Given the description of an element on the screen output the (x, y) to click on. 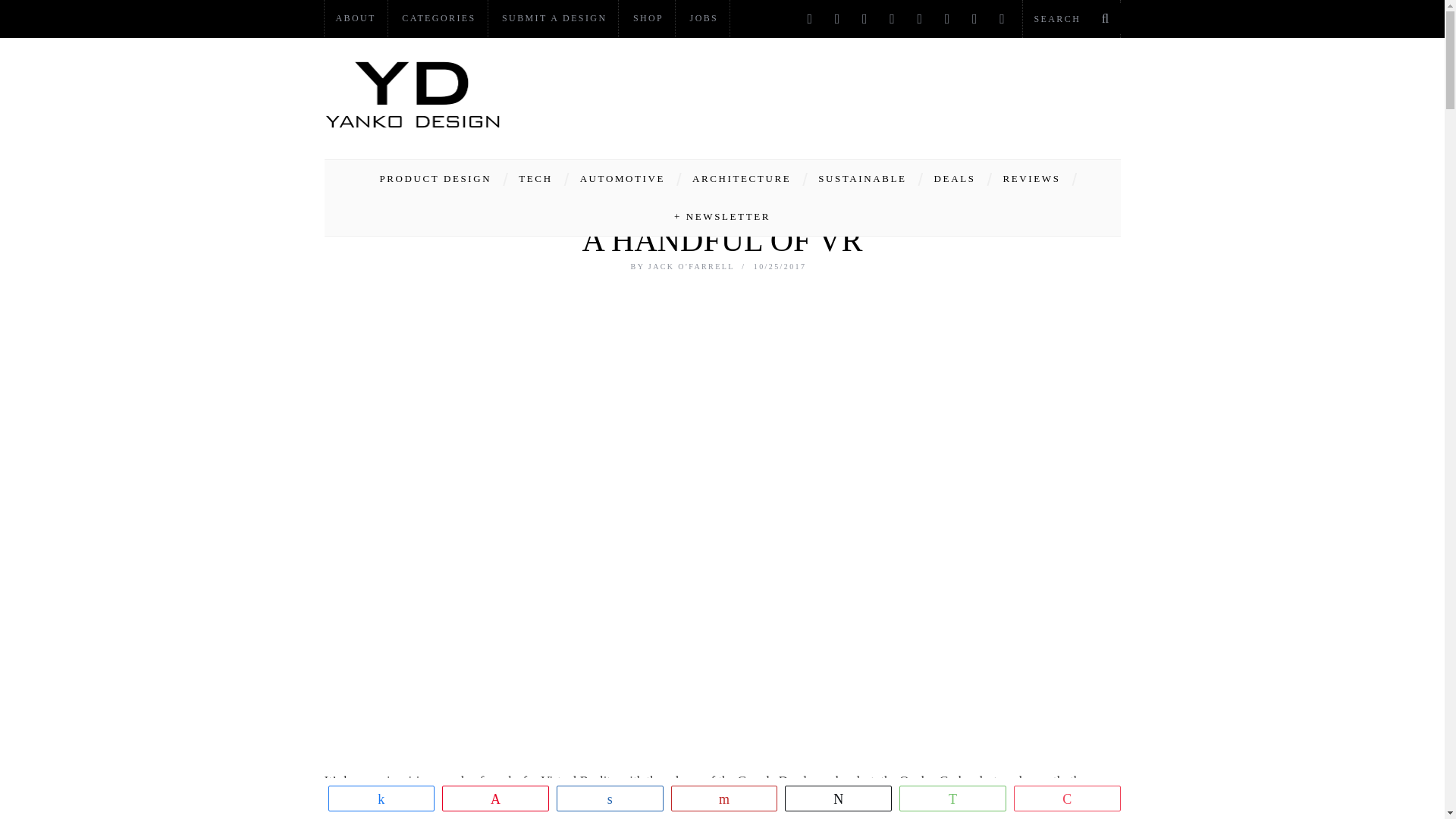
Search (1071, 18)
Advertisement (845, 94)
